Given the description of an element on the screen output the (x, y) to click on. 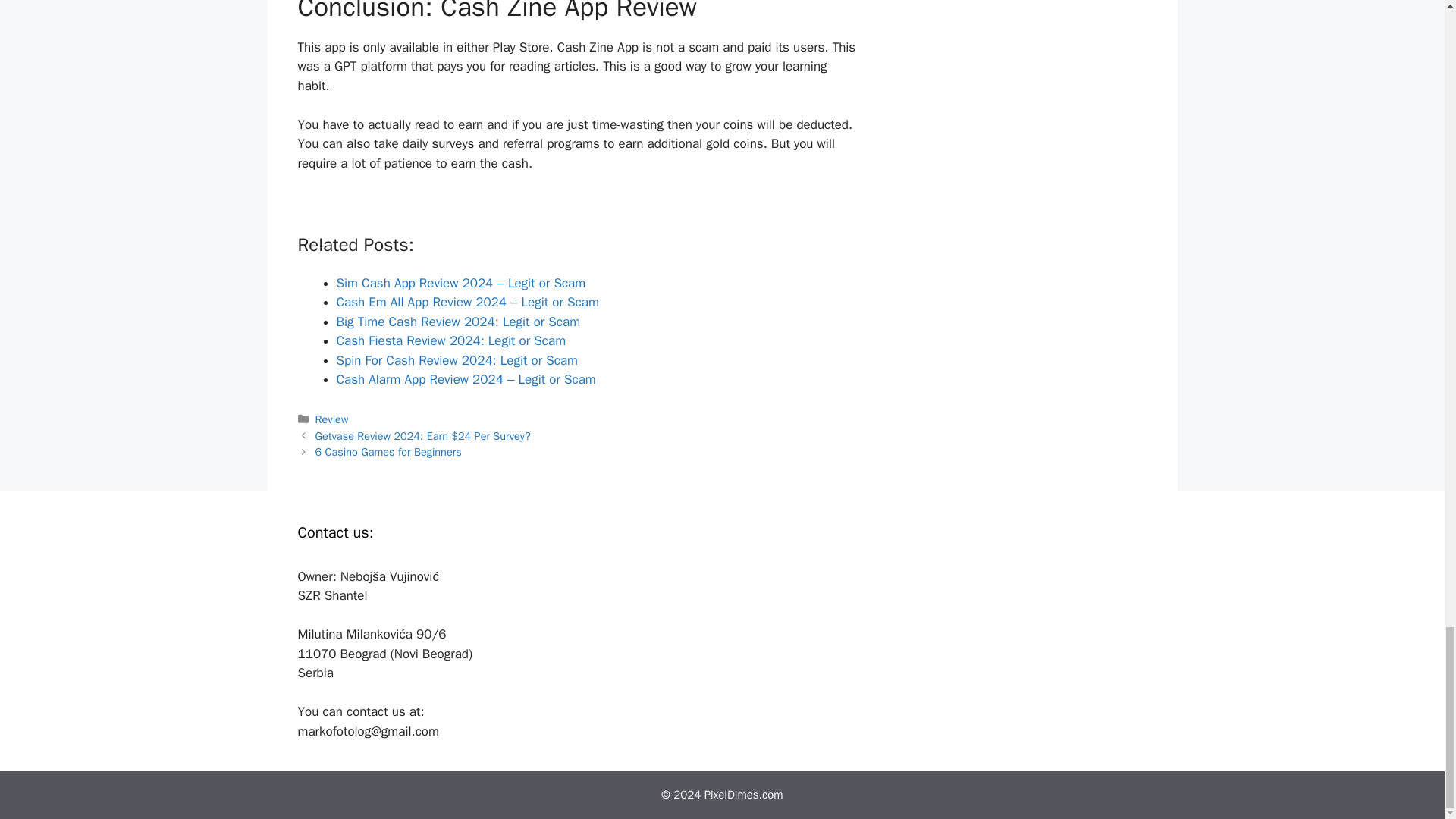
Cash Fiesta Review 2024: Legit or Scam (451, 340)
Big Time Cash Review 2024: Legit or Scam (458, 321)
